Given the description of an element on the screen output the (x, y) to click on. 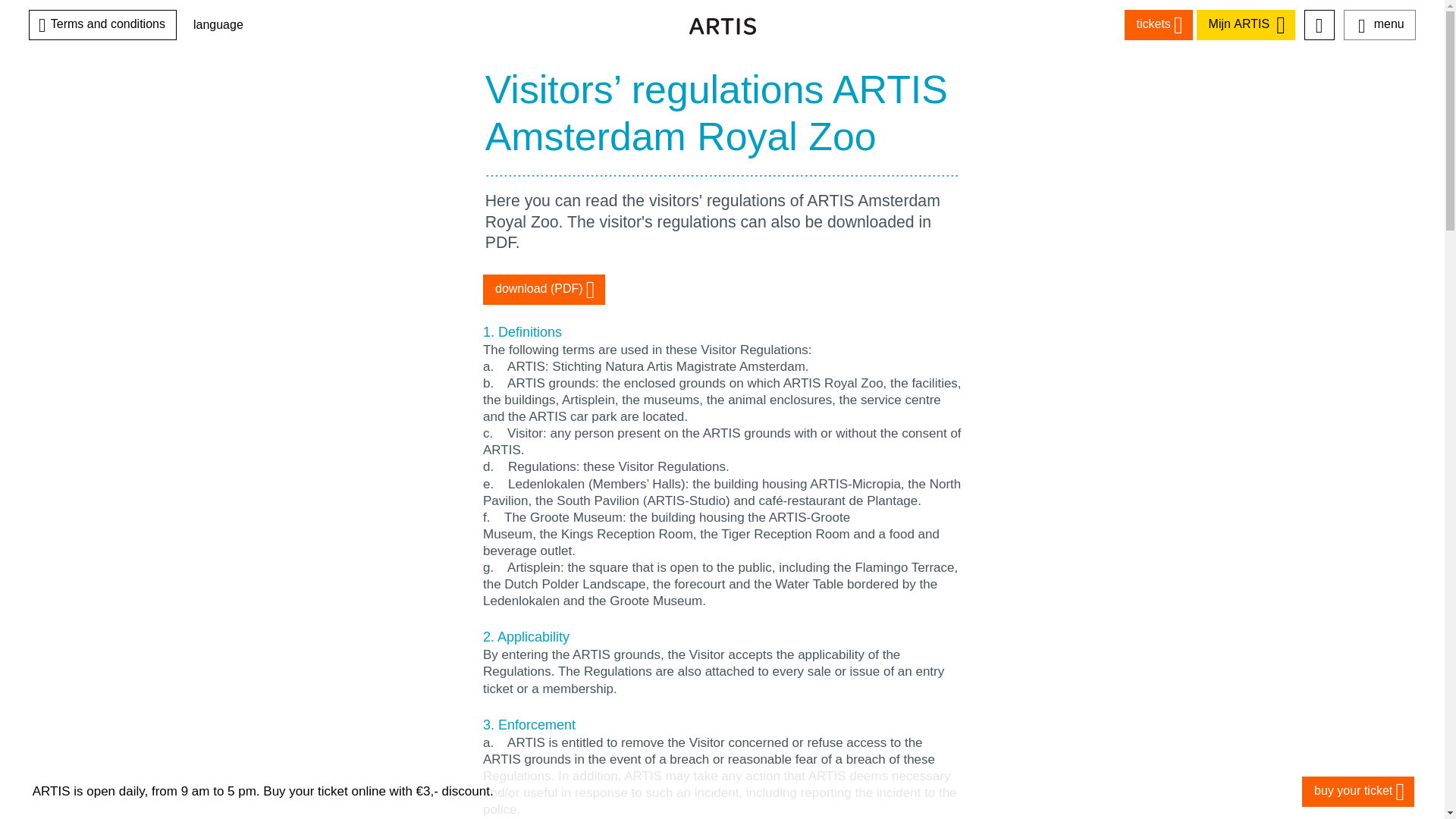
Search (1319, 56)
Terms and conditions (102, 24)
Mijn ARTIS (1245, 24)
language (217, 24)
tickets (1158, 24)
menu (1379, 24)
